Given the description of an element on the screen output the (x, y) to click on. 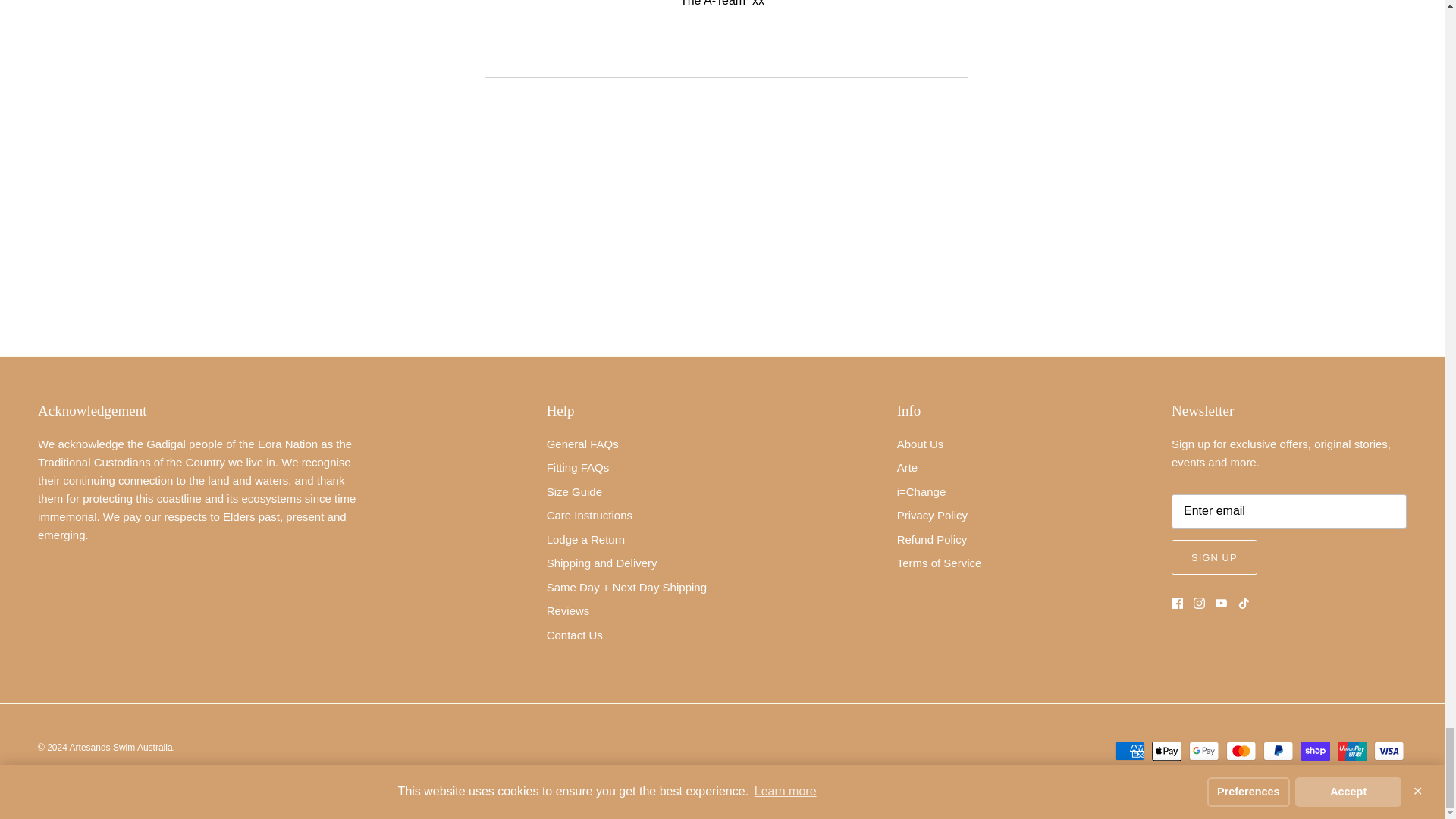
Shop Pay (1315, 751)
Visa (1388, 751)
Mastercard (1240, 751)
Facebook (1177, 603)
PayPal (1277, 751)
American Express (1129, 751)
Apple Pay (1166, 751)
Youtube (1221, 603)
Google Pay (1203, 751)
Instagram (1199, 603)
Union Pay (1352, 751)
